Given the description of an element on the screen output the (x, y) to click on. 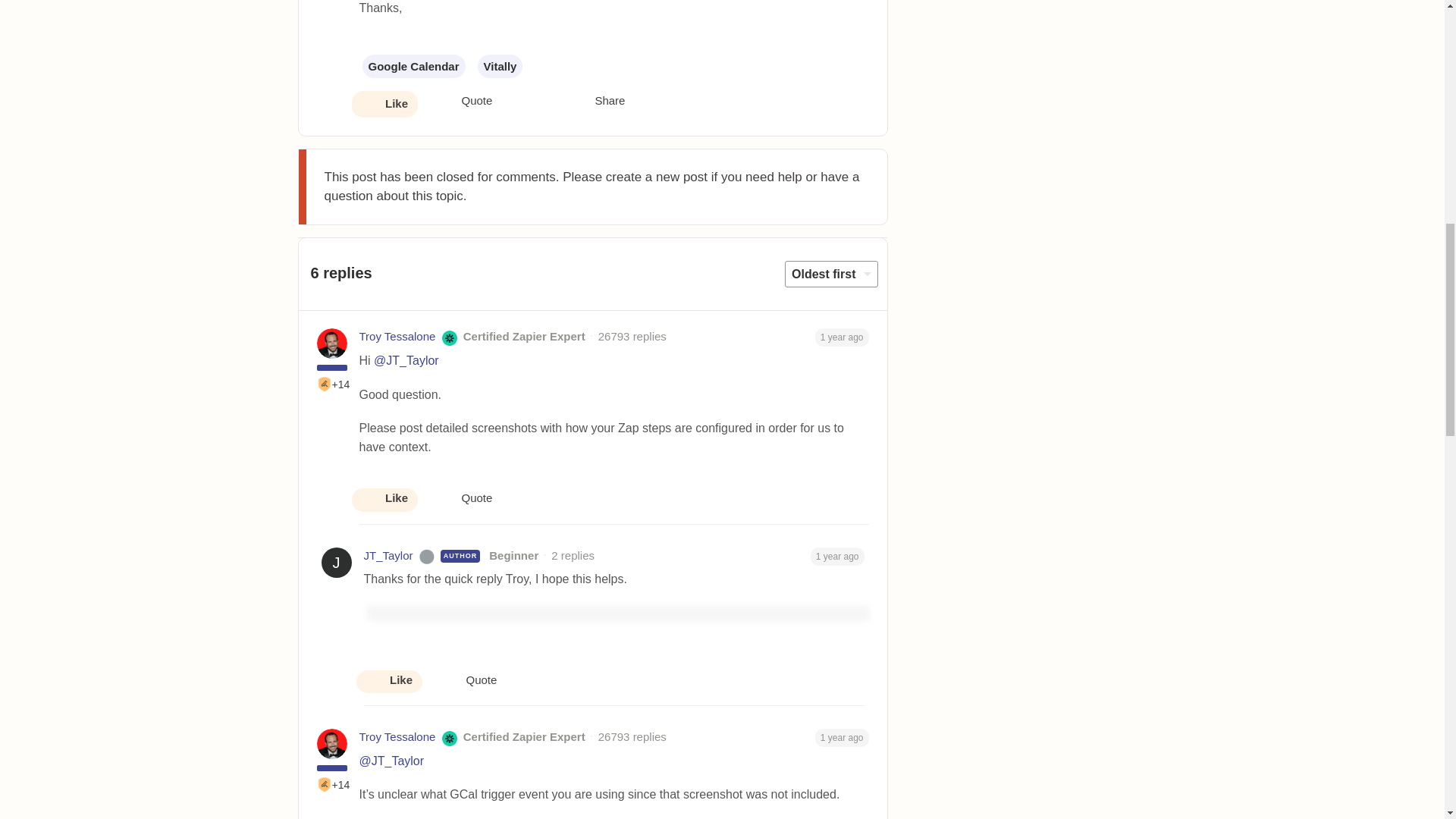
Troy Tessalone (397, 336)
First Best Answer (324, 784)
Troy Tessalone (397, 737)
First Best Answer (324, 384)
